Given the description of an element on the screen output the (x, y) to click on. 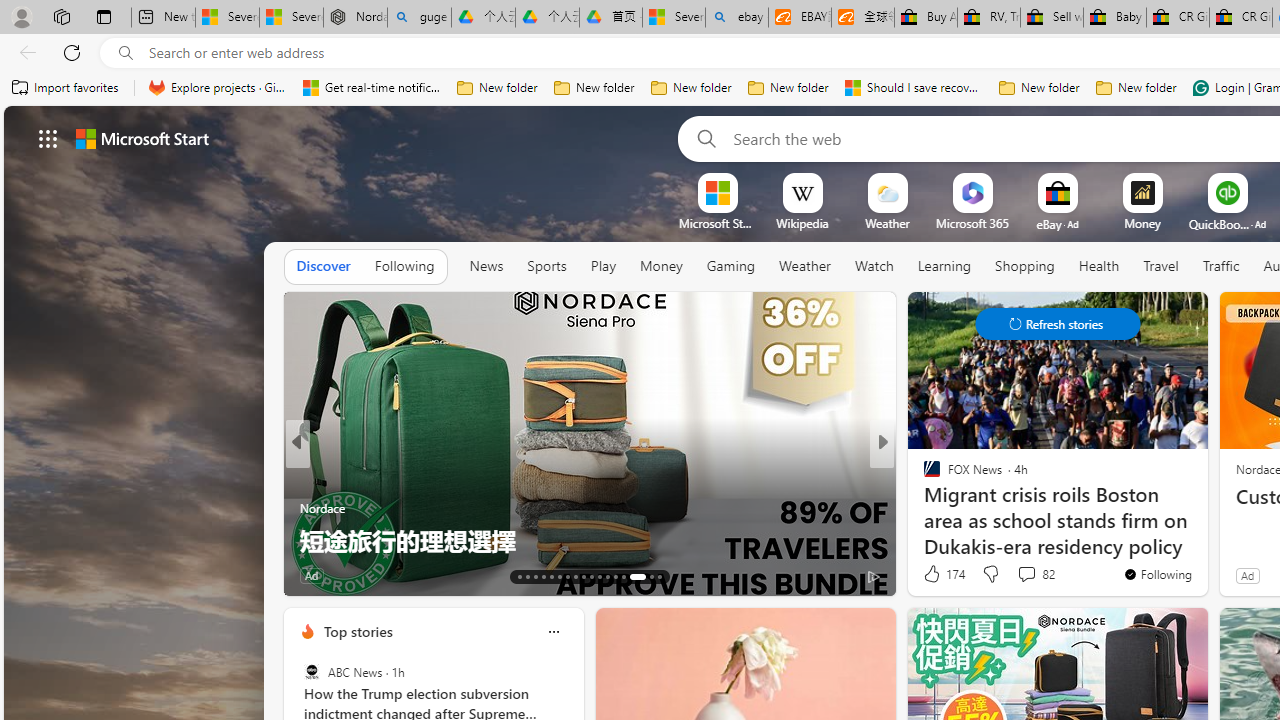
View comments 82 Comment (1035, 574)
AutomationID: tab-28 (644, 576)
AutomationID: tab-18 (559, 576)
Learning (944, 267)
Sports (546, 267)
AutomationID: tab-29 (659, 576)
Discover (323, 265)
AutomationID: tab-19 (567, 576)
